Given the description of an element on the screen output the (x, y) to click on. 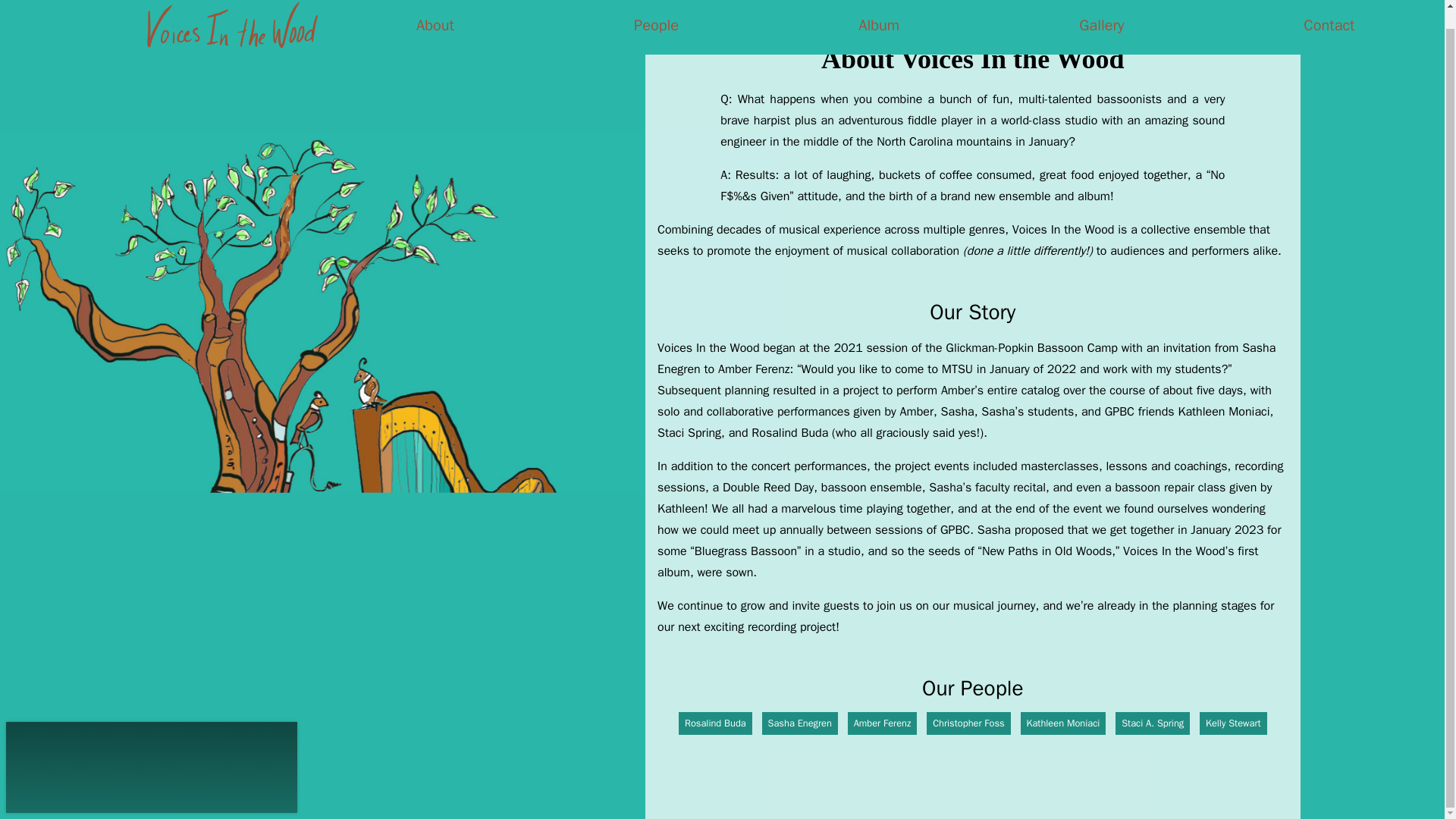
Gallery (1100, 16)
Album (879, 16)
Christopher Foss (968, 722)
Rosalind Buda (715, 722)
Kelly Stewart (1232, 722)
People (655, 16)
Contact (1328, 16)
About (435, 16)
Kathleen Moniaci (1063, 722)
BandCamp album player widget (151, 748)
